Given the description of an element on the screen output the (x, y) to click on. 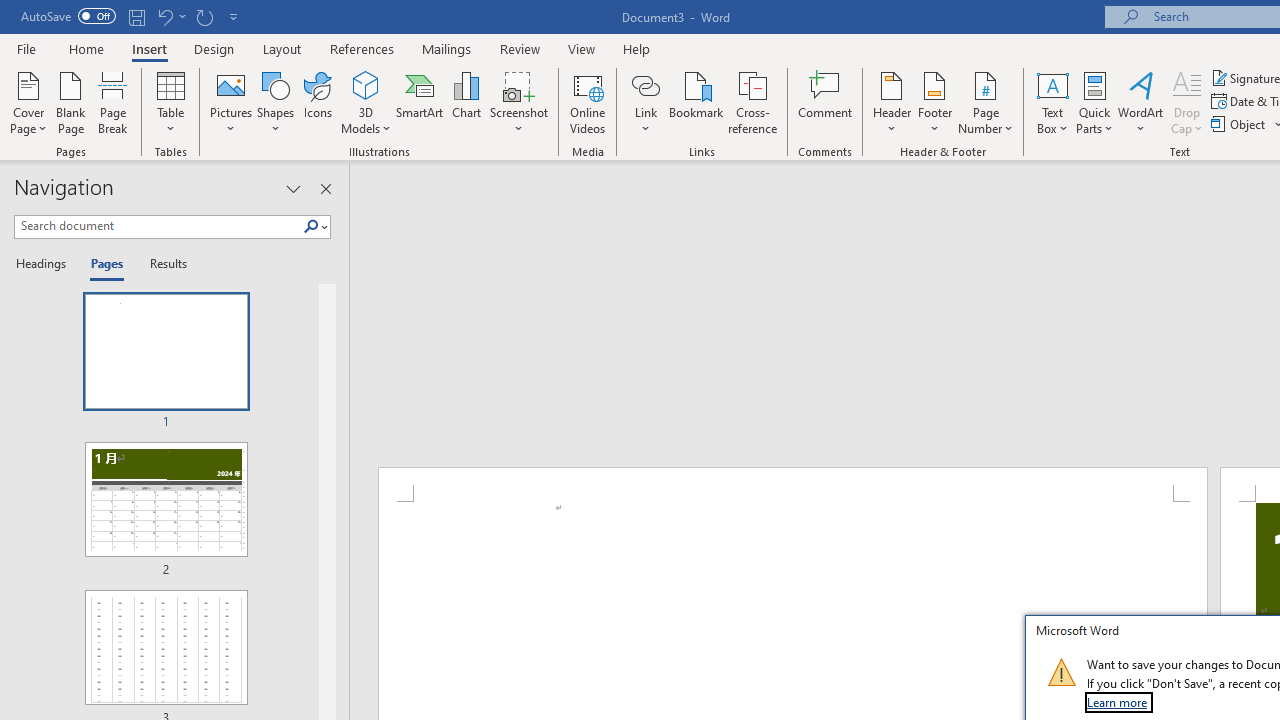
Pages (105, 264)
Text Box (1052, 102)
Table (170, 102)
Link (645, 102)
Icons (317, 102)
Online Videos... (588, 102)
Link (645, 84)
Results (161, 264)
